Given the description of an element on the screen output the (x, y) to click on. 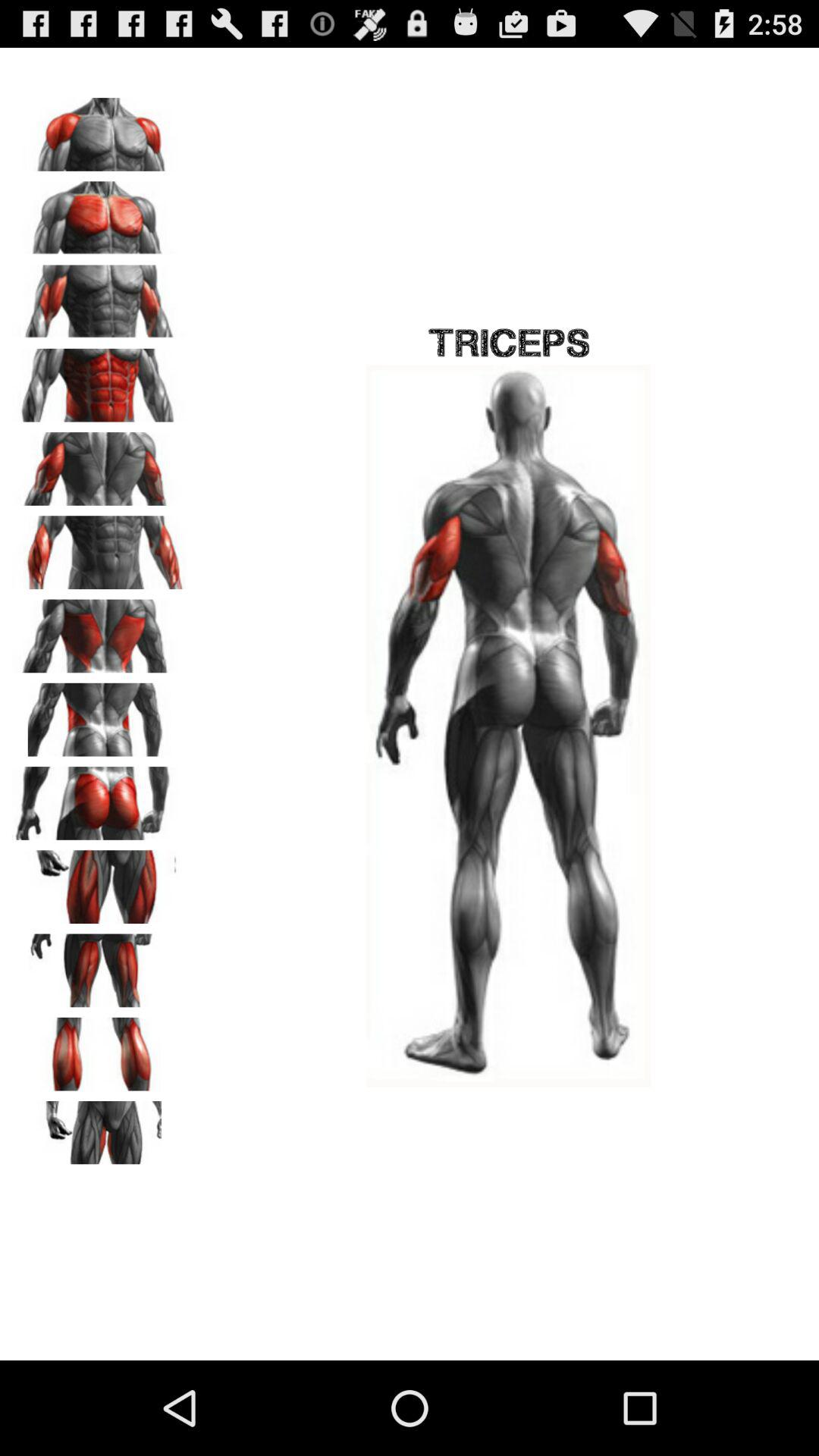
change photo (99, 296)
